Given the description of an element on the screen output the (x, y) to click on. 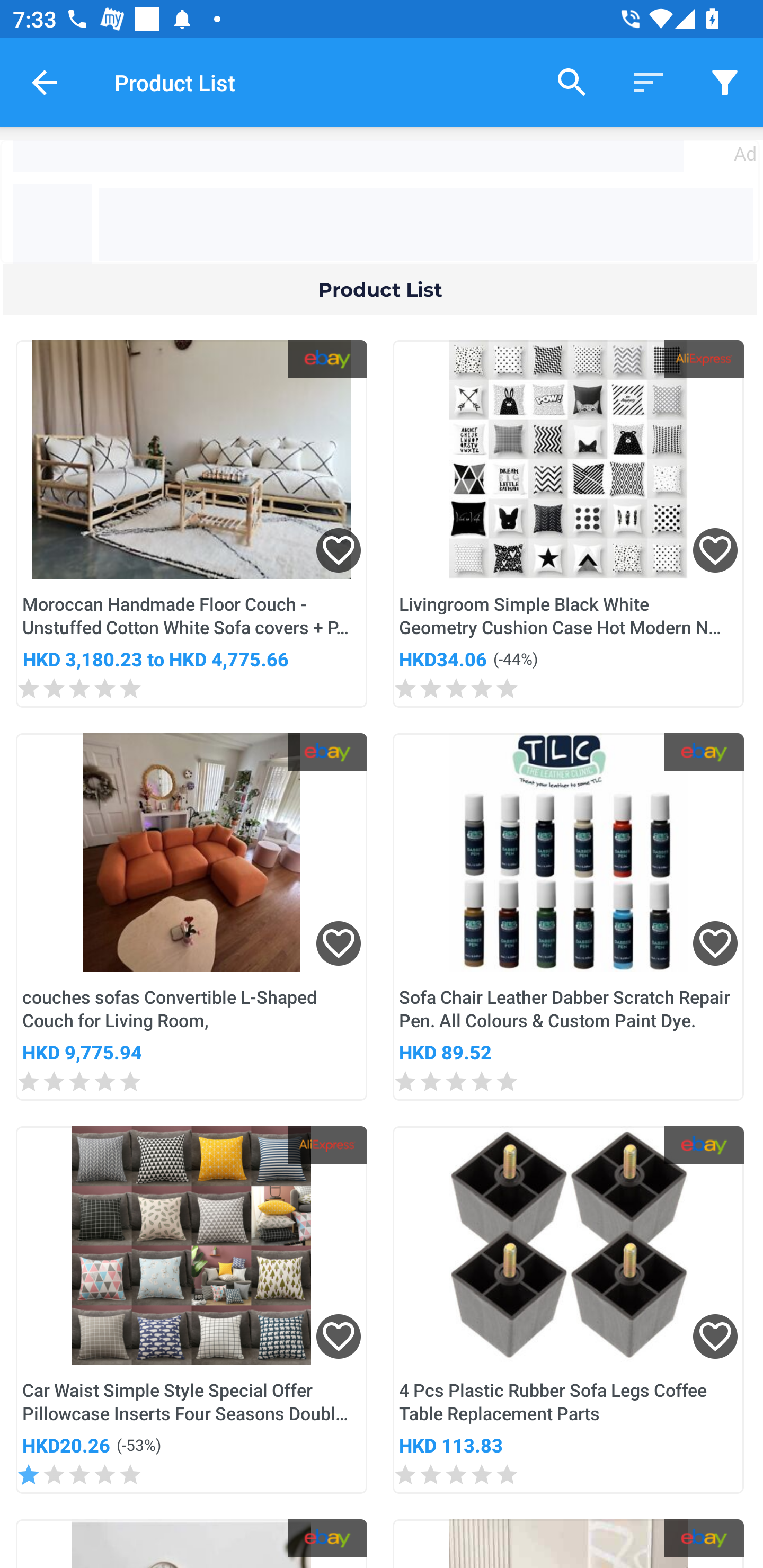
Navigate up (44, 82)
Search (572, 81)
short (648, 81)
short (724, 81)
